Given the description of an element on the screen output the (x, y) to click on. 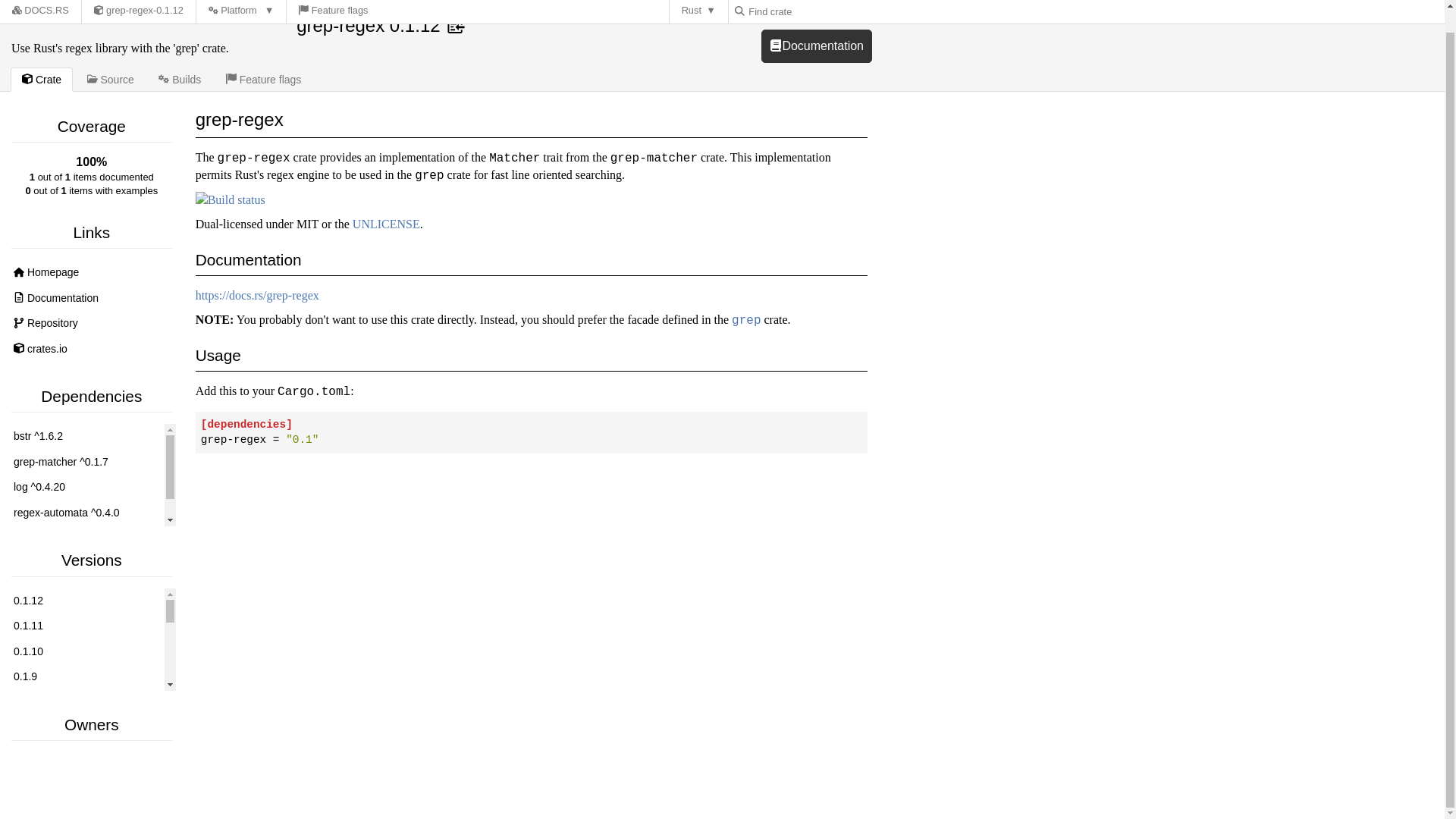
0.1.11 (85, 626)
crates.io (91, 349)
0.1.5 (85, 779)
0.1.6 (85, 753)
Rust (698, 0)
0.1.12 (85, 601)
Documentation (91, 298)
Builds (179, 78)
0.1.7 (85, 727)
